Given the description of an element on the screen output the (x, y) to click on. 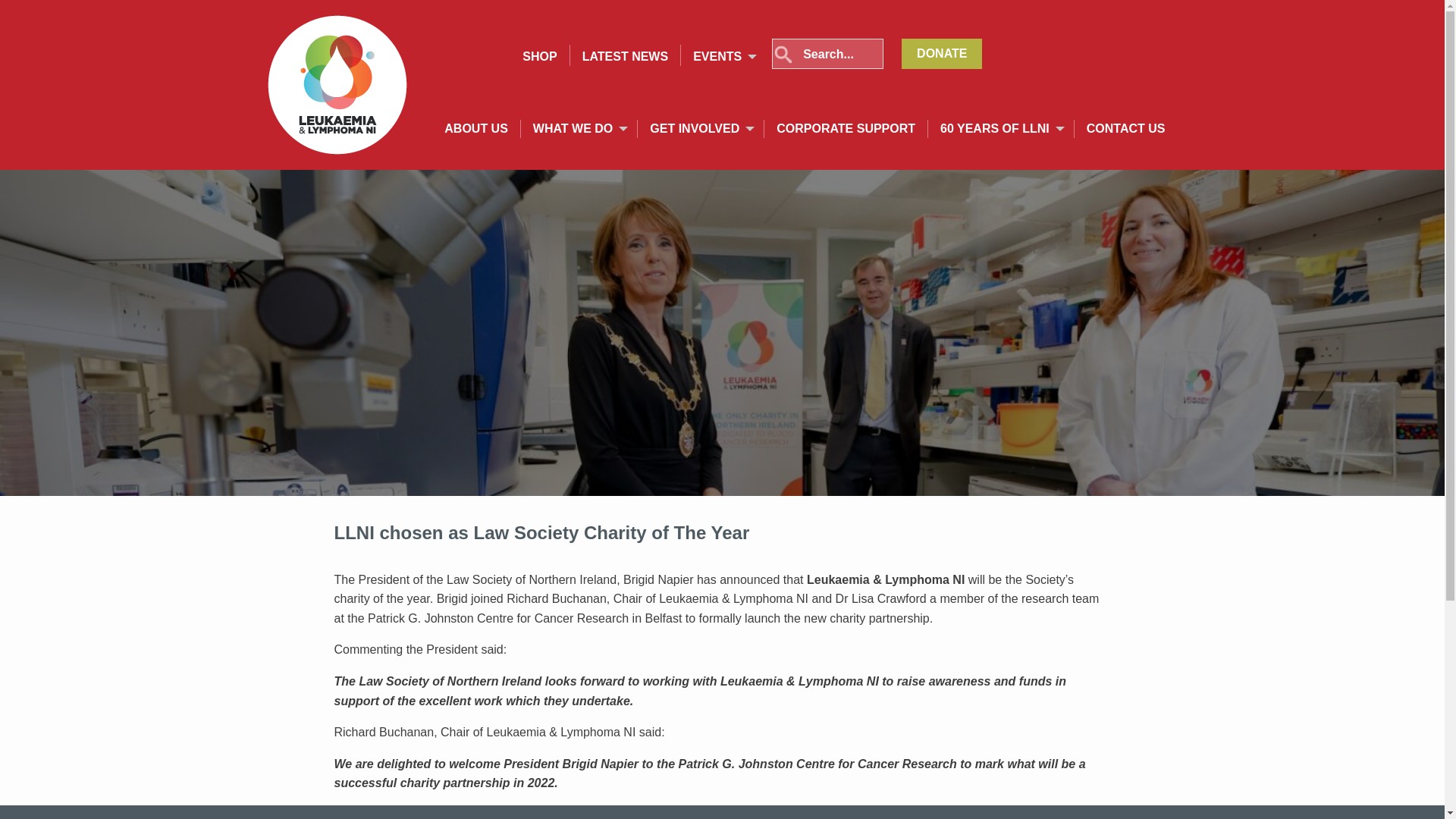
SHOP (539, 56)
60 YEARS OF LLNI (994, 128)
EVENTS (717, 56)
WHAT WE DO (572, 128)
DONATE (941, 53)
GET INVOLVED (694, 128)
ABOUT US (475, 128)
LATEST NEWS (625, 56)
CORPORATE SUPPORT (845, 128)
